Given the description of an element on the screen output the (x, y) to click on. 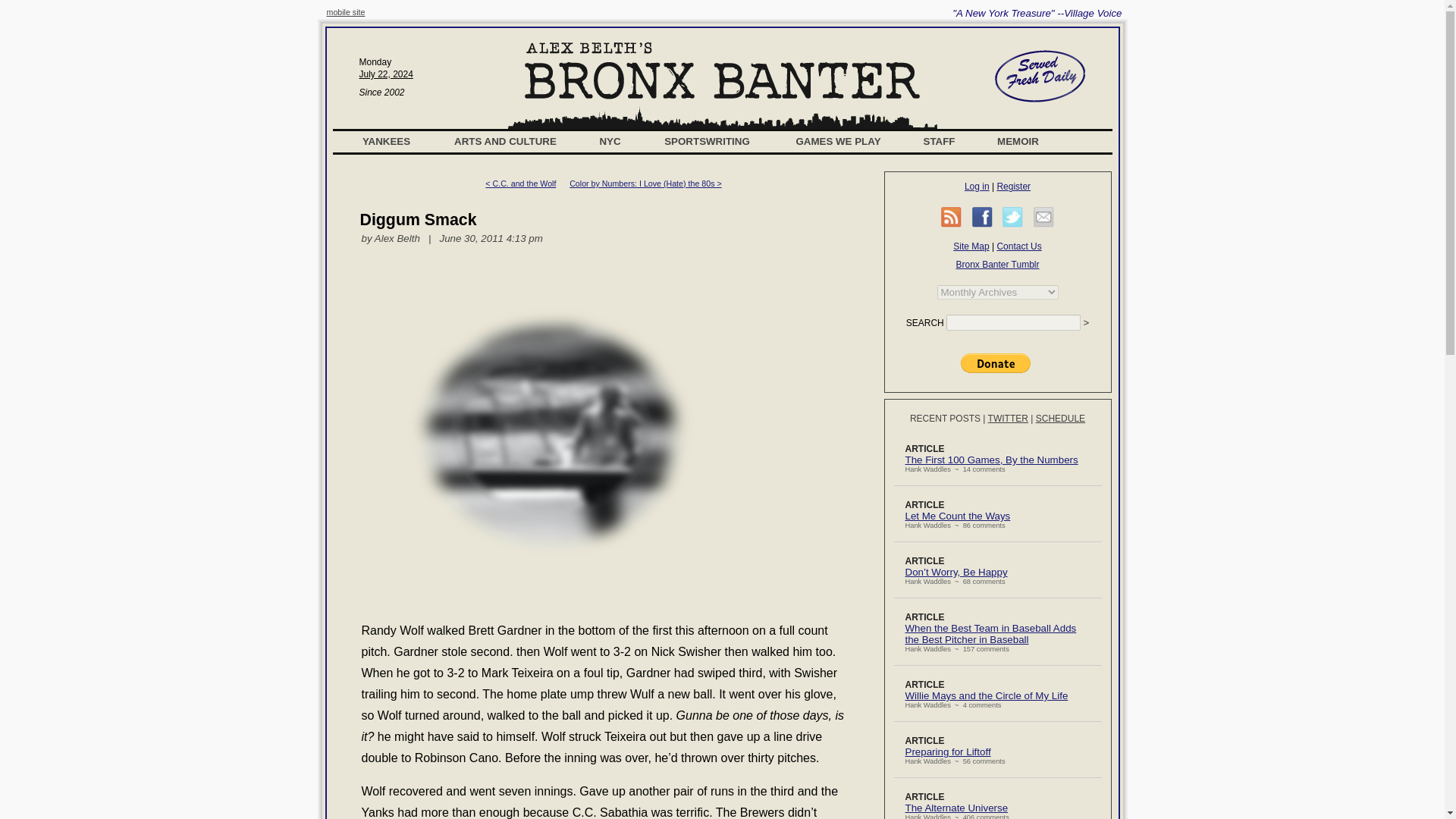
Share on Twitter (1013, 217)
Subscription feed (950, 217)
ARTS AND CULTURE (504, 141)
happiness (550, 433)
Share via email (1043, 217)
YANKEES (386, 141)
NYC (610, 141)
Share on Facebook (982, 217)
Permanent link to The First 100 Games, By the Numbers (991, 460)
mobile site (345, 11)
